Given the description of an element on the screen output the (x, y) to click on. 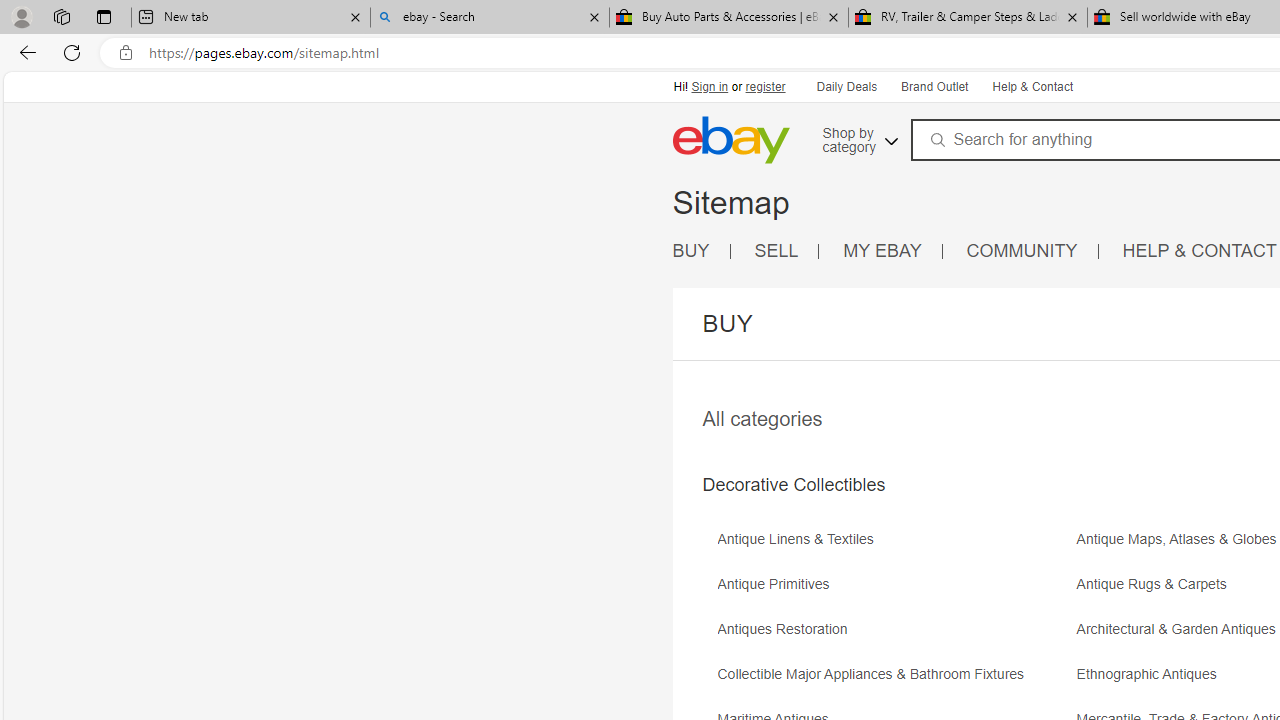
Antique Rugs & Carpets (1156, 583)
All categories (762, 418)
eBay Logo (797, 169)
Antique Primitives (777, 583)
Antiques Restoration (894, 636)
BUY (701, 251)
MY EBAY (893, 251)
Antiques Restoration (786, 629)
Collectible Major Appliances & Bathroom Fixtures (894, 681)
Brand Outlet (934, 88)
register (764, 86)
SELL (775, 250)
Help & Contact (1032, 88)
